Given the description of an element on the screen output the (x, y) to click on. 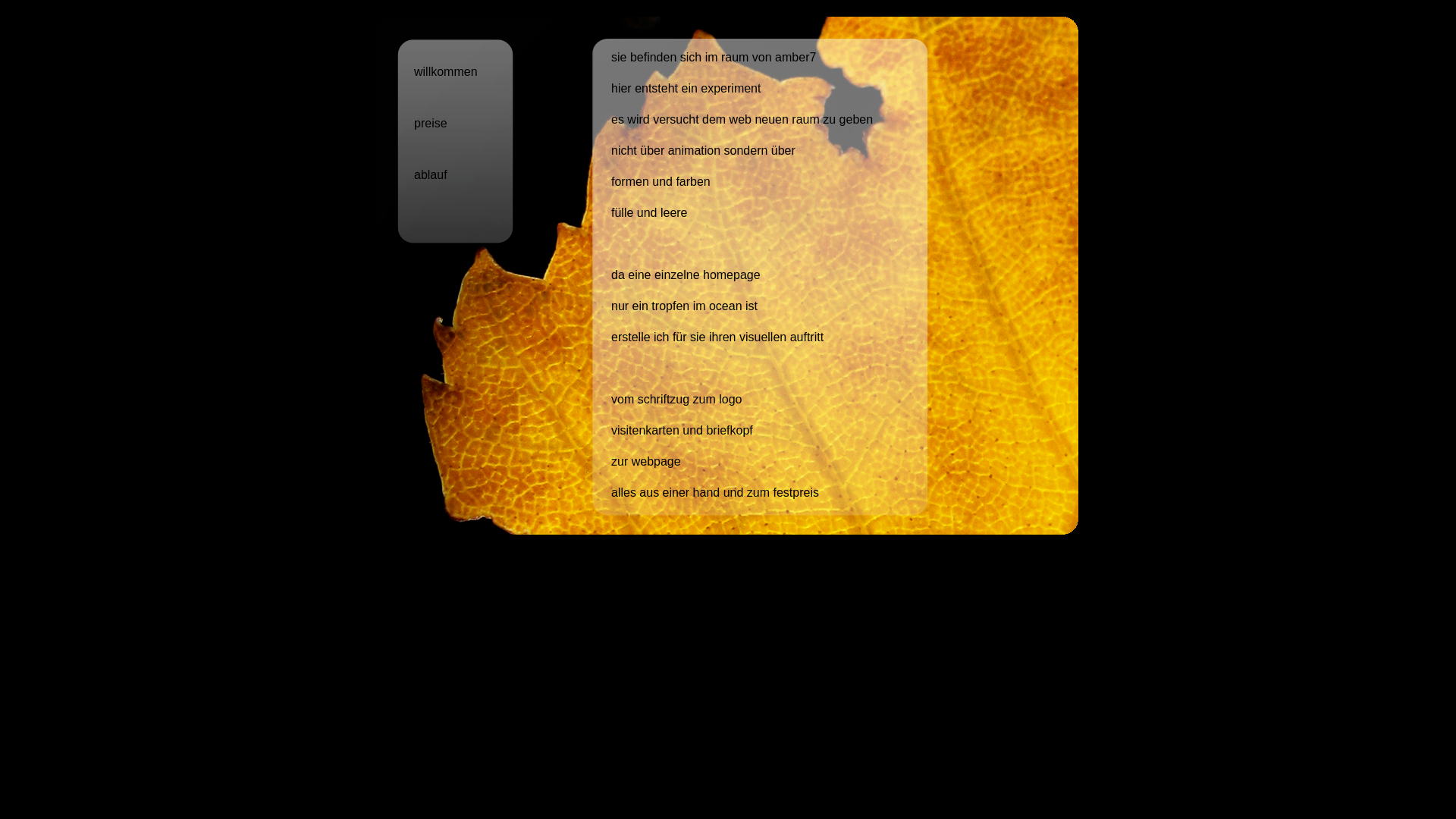
preise Element type: text (430, 122)
ablauf Element type: text (430, 174)
